Given the description of an element on the screen output the (x, y) to click on. 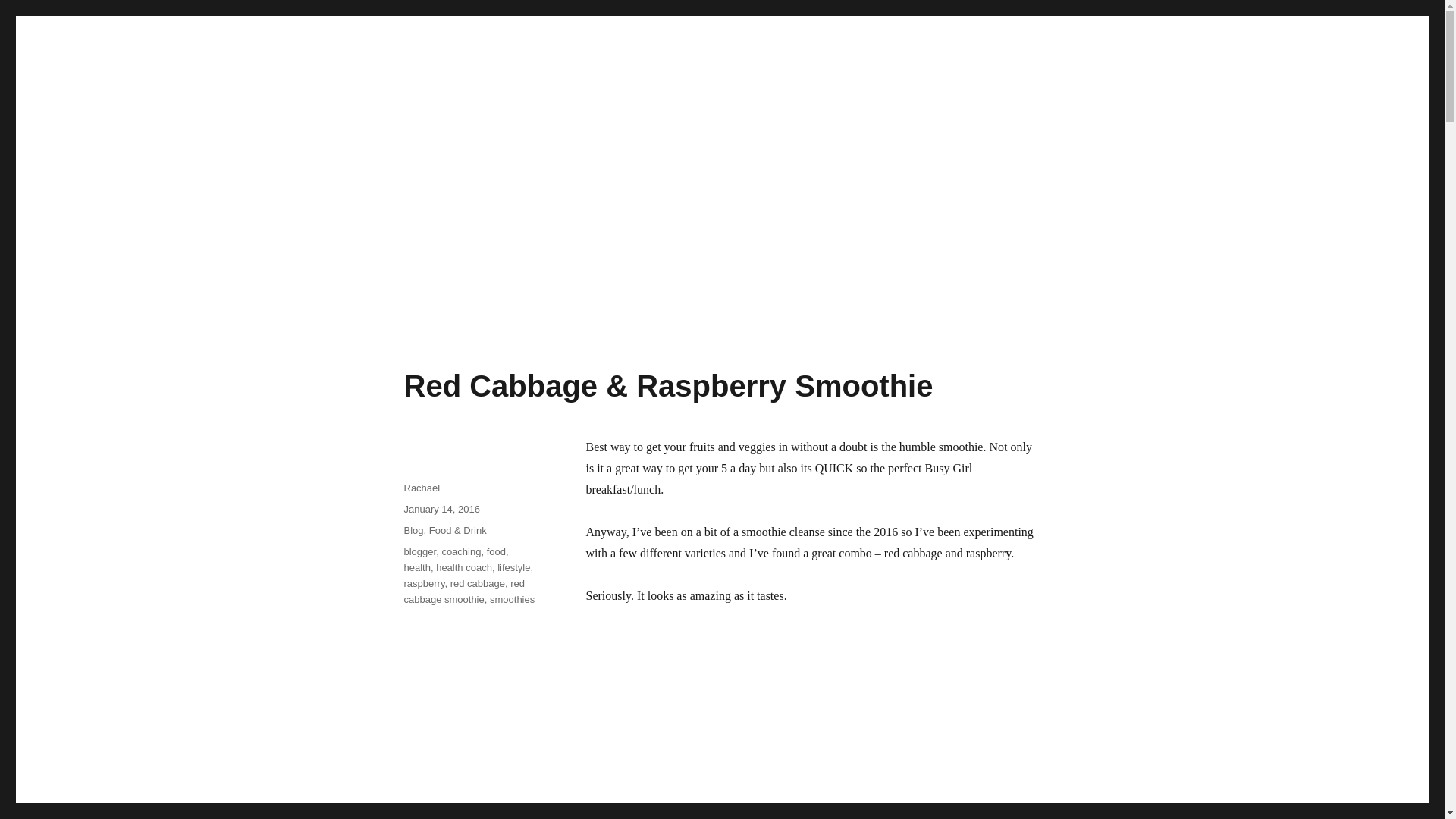
January 14, 2016 (441, 509)
blogger (419, 551)
smoothies (511, 599)
red cabbage smoothie (463, 591)
red cabbage (477, 583)
Rachael Phillips (347, 306)
health coach (463, 567)
lifestyle (513, 567)
Rachael (421, 487)
health (416, 567)
Blog (413, 530)
raspberry (423, 583)
coaching (460, 551)
food (495, 551)
